Given the description of an element on the screen output the (x, y) to click on. 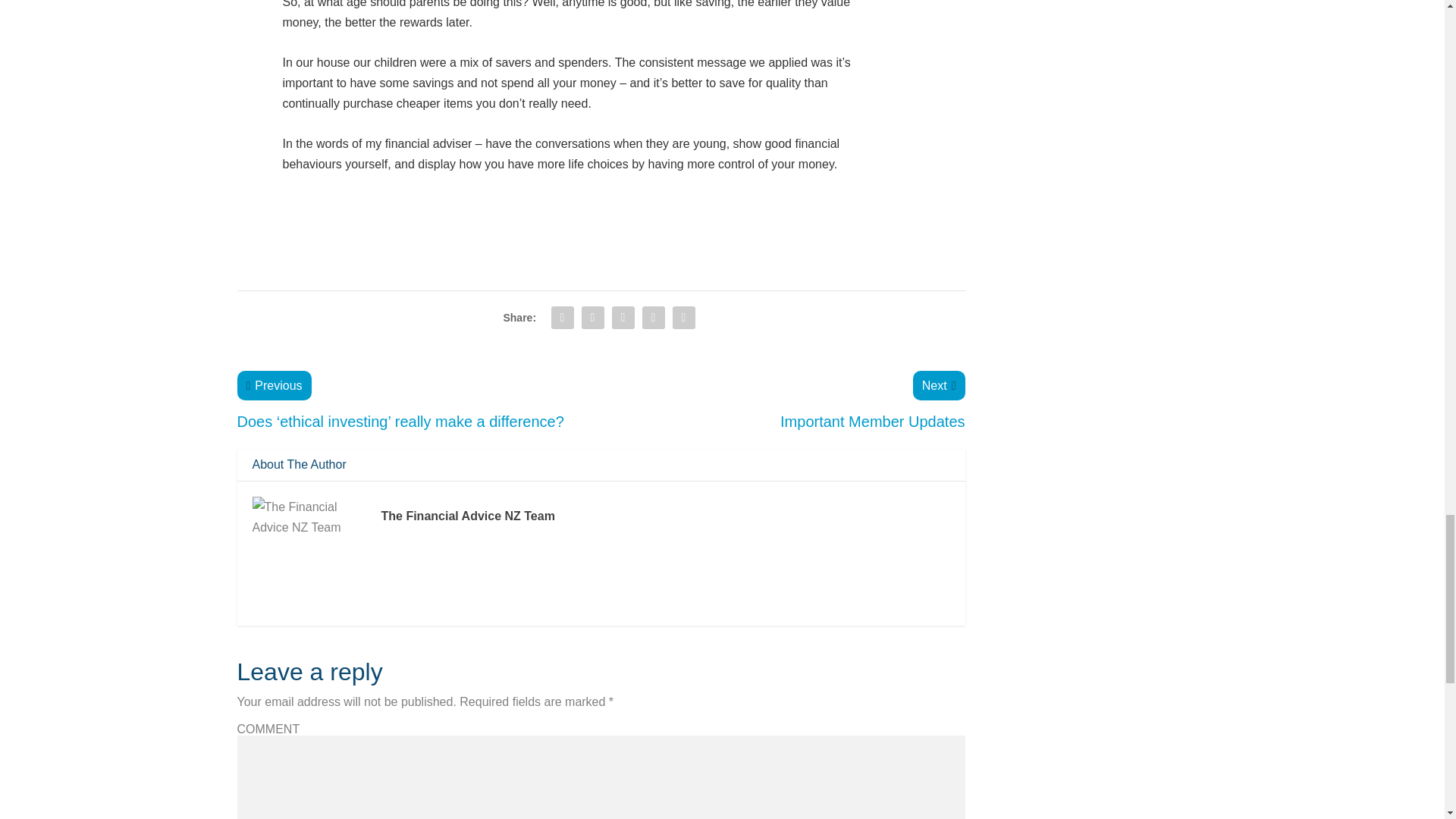
View all posts by The Financial Advice NZ Team (467, 515)
